Given the description of an element on the screen output the (x, y) to click on. 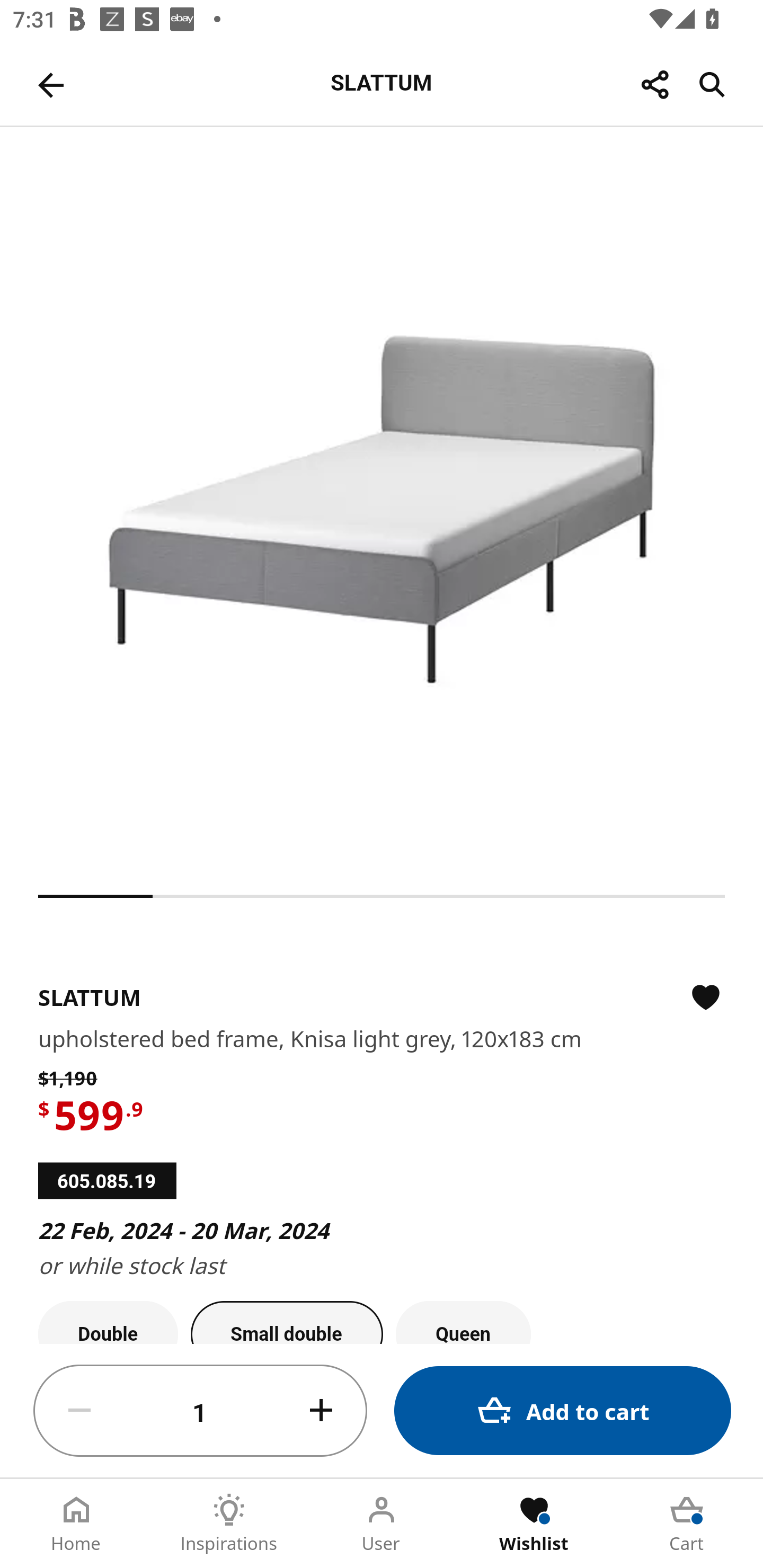
Double (107, 1322)
Small double (286, 1322)
Queen (463, 1322)
Add to cart (562, 1410)
1 (200, 1411)
Home
Tab 1 of 5 (76, 1522)
Inspirations
Tab 2 of 5 (228, 1522)
User
Tab 3 of 5 (381, 1522)
Wishlist
Tab 4 of 5 (533, 1522)
Cart
Tab 5 of 5 (686, 1522)
